Given the description of an element on the screen output the (x, y) to click on. 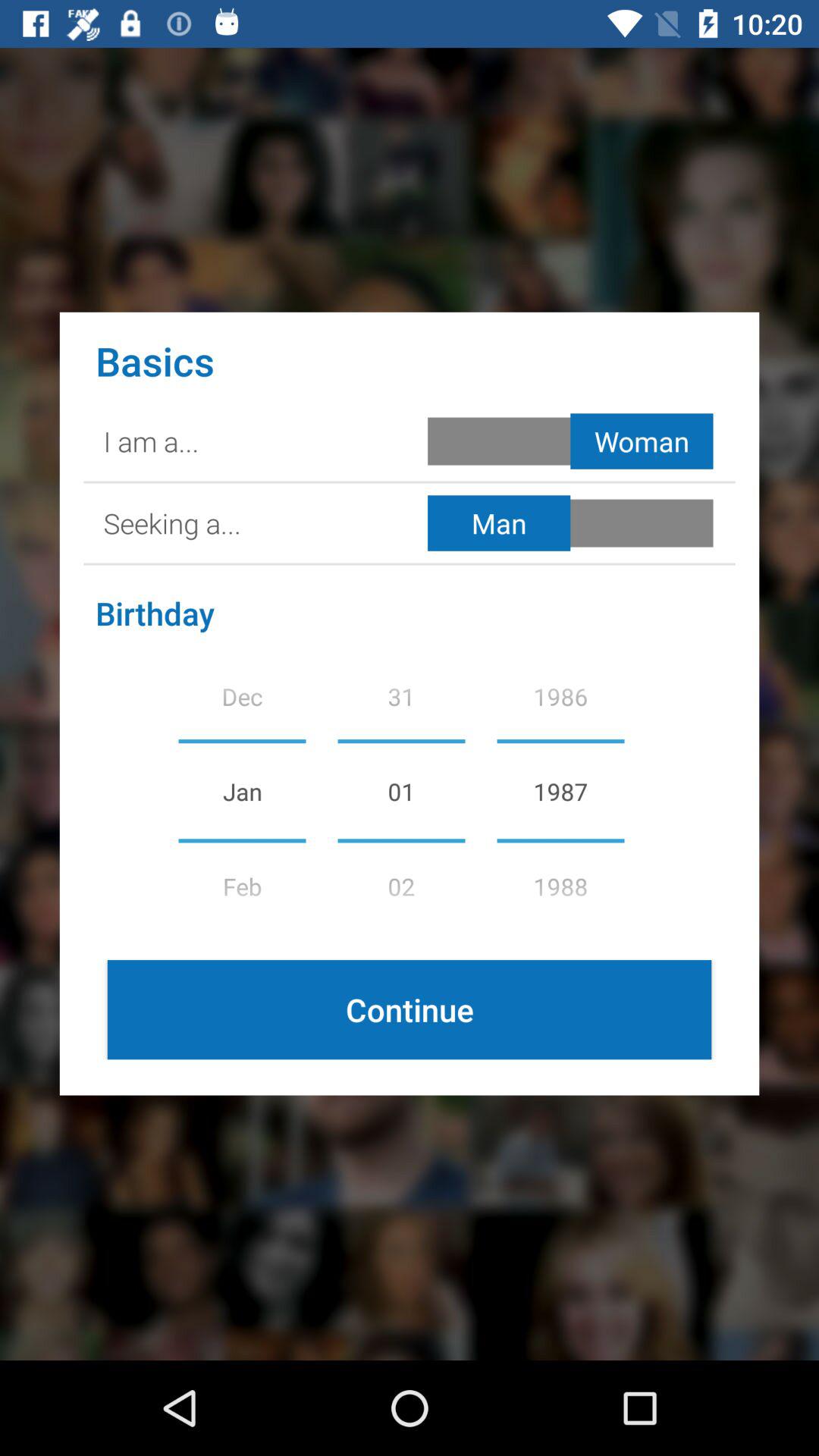
gender menu (573, 441)
